Given the description of an element on the screen output the (x, y) to click on. 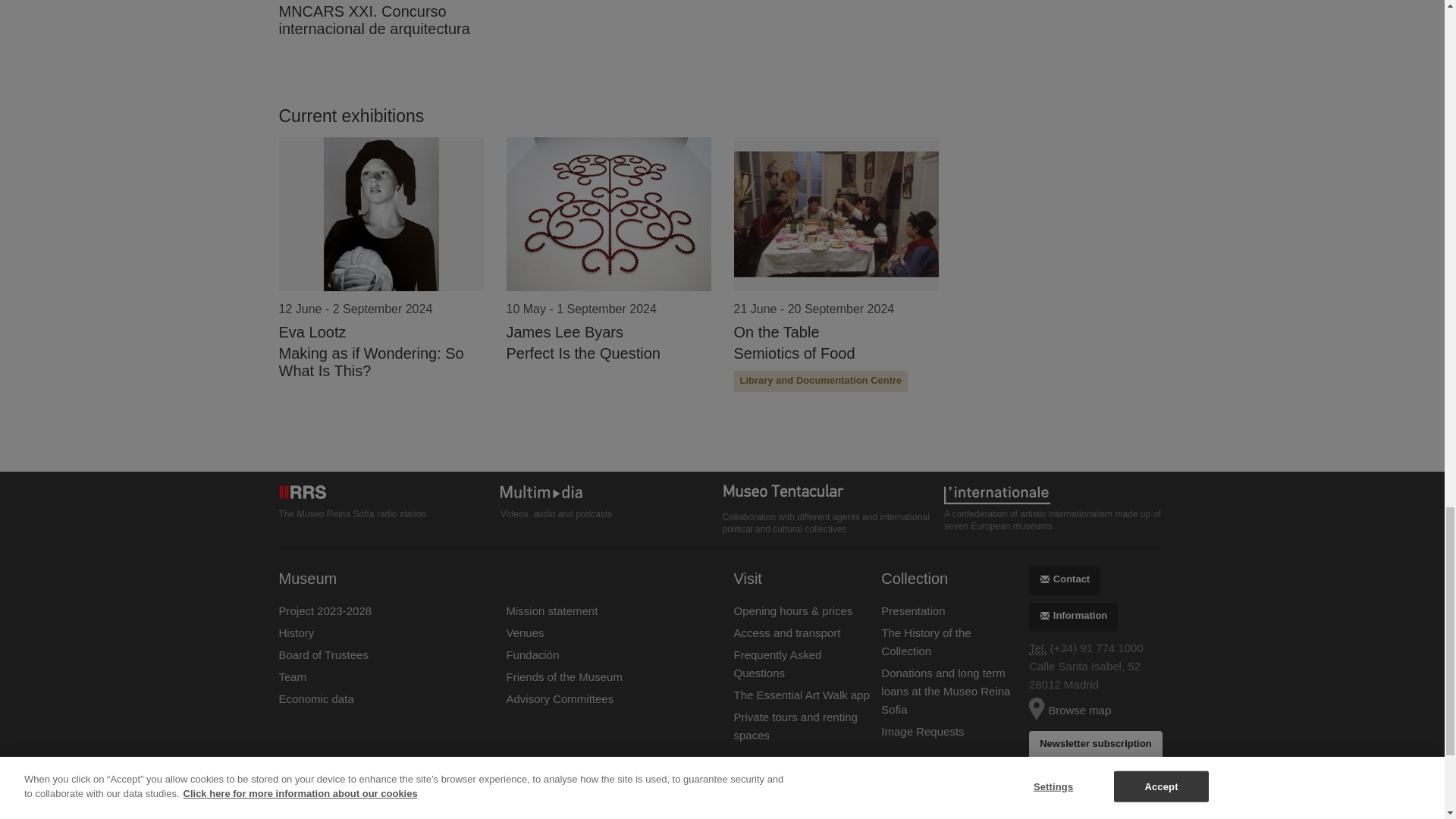
Museo tentacular (832, 494)
Linternationale (1054, 493)
Multimedia (611, 493)
